Given the description of an element on the screen output the (x, y) to click on. 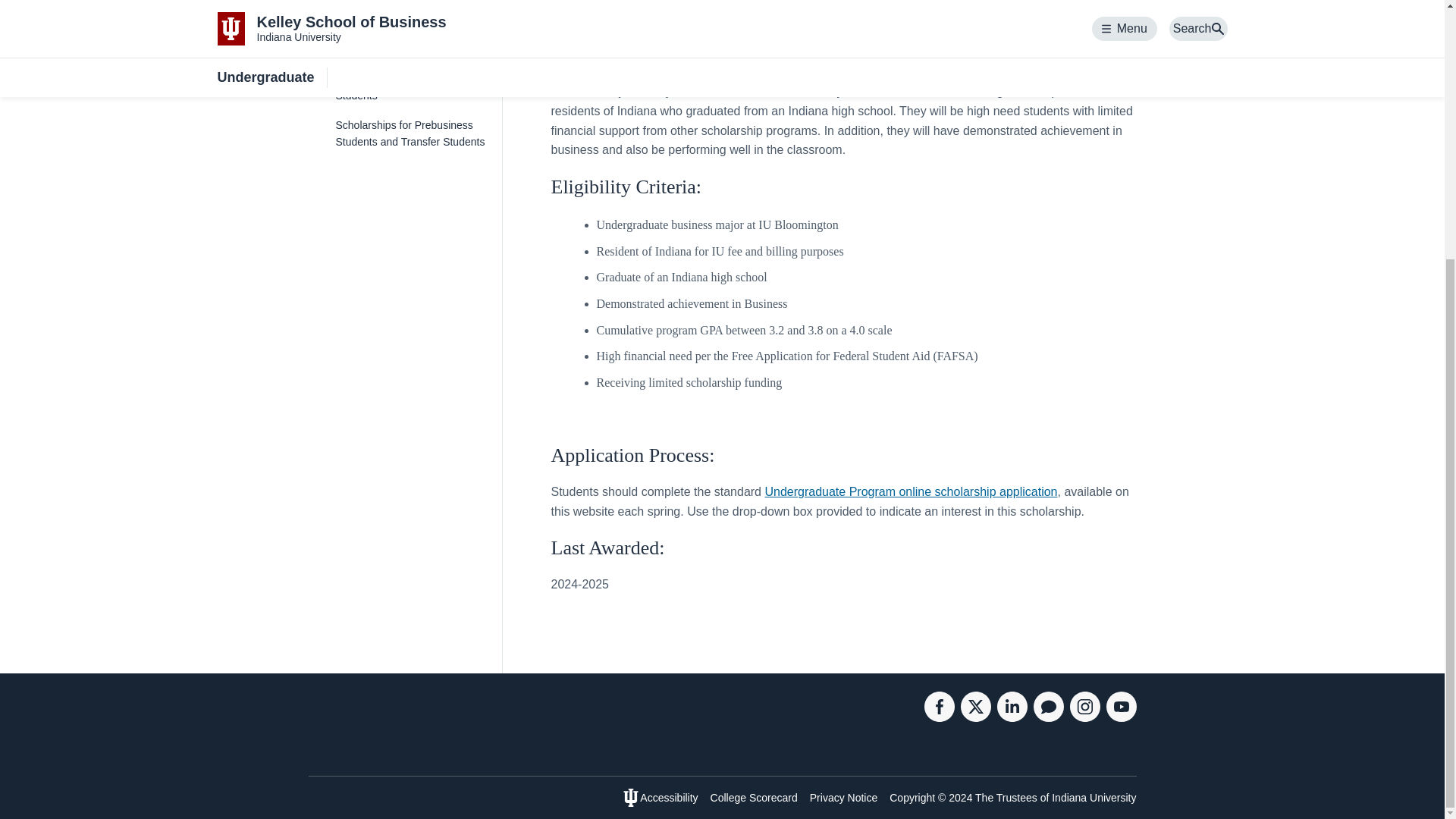
Accessibility (668, 797)
Scholarships for Current Kelley Students (411, 87)
Copyright (911, 797)
Additional Financial Resources (411, 50)
Privacy Notice (843, 797)
College Scorecard (753, 797)
Twitter for the Kelley School of Business (974, 717)
Scholarships for Direct Admit First-Year Students (411, 3)
